Given the description of an element on the screen output the (x, y) to click on. 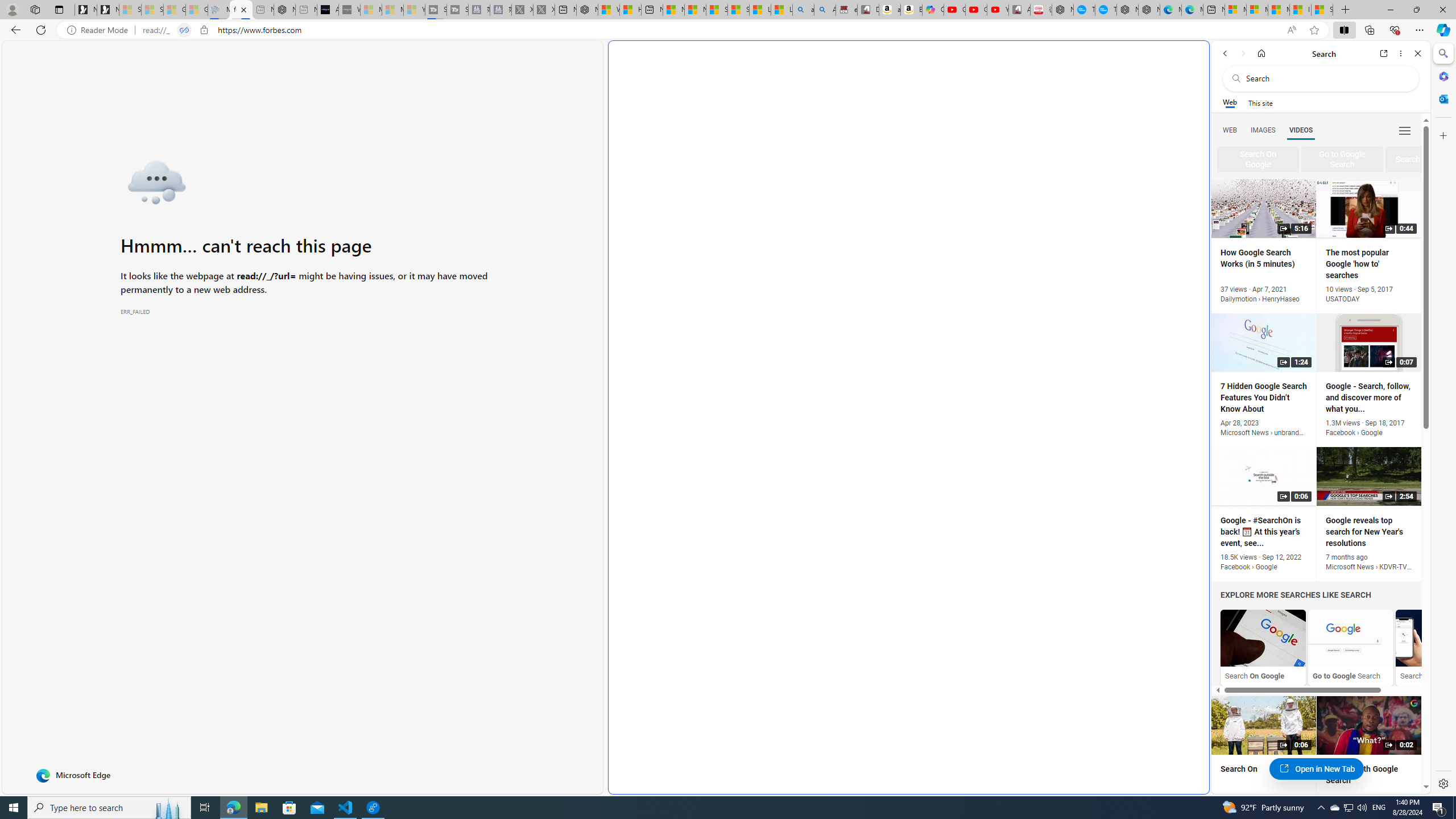
Microsoft account | Privacy (1256, 9)
Microsoft Start Sports - Sleeping (371, 9)
Settings (1442, 783)
Gloom - YouTube (975, 9)
New tab - Sleeping (306, 9)
YouTube Kids - An App Created for Kids to Explore Content (997, 9)
Open link in new tab (1383, 53)
Address and search bar (709, 29)
Nordace - #1 Japanese Best-Seller - Siena Smart Backpack (284, 9)
